Given the description of an element on the screen output the (x, y) to click on. 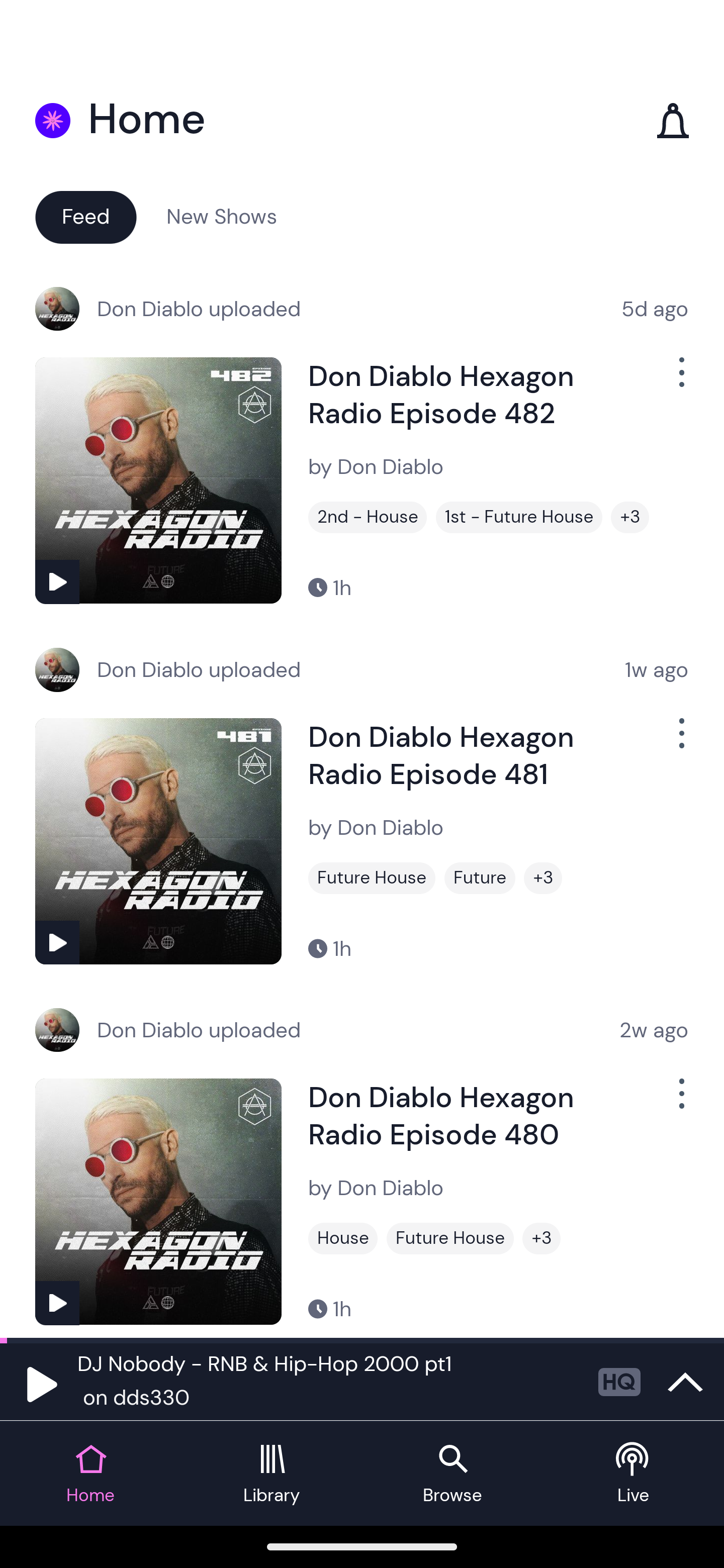
Feed (85, 216)
New Shows (221, 216)
Show Options Menu Button (679, 379)
2nd - House (367, 517)
1st - Future House (518, 517)
Show Options Menu Button (679, 740)
Future House (371, 877)
Future (479, 877)
Show Options Menu Button (679, 1101)
House (342, 1238)
Future House (450, 1238)
Home tab Home (90, 1473)
Library tab Library (271, 1473)
Browse tab Browse (452, 1473)
Live tab Live (633, 1473)
